Given the description of an element on the screen output the (x, y) to click on. 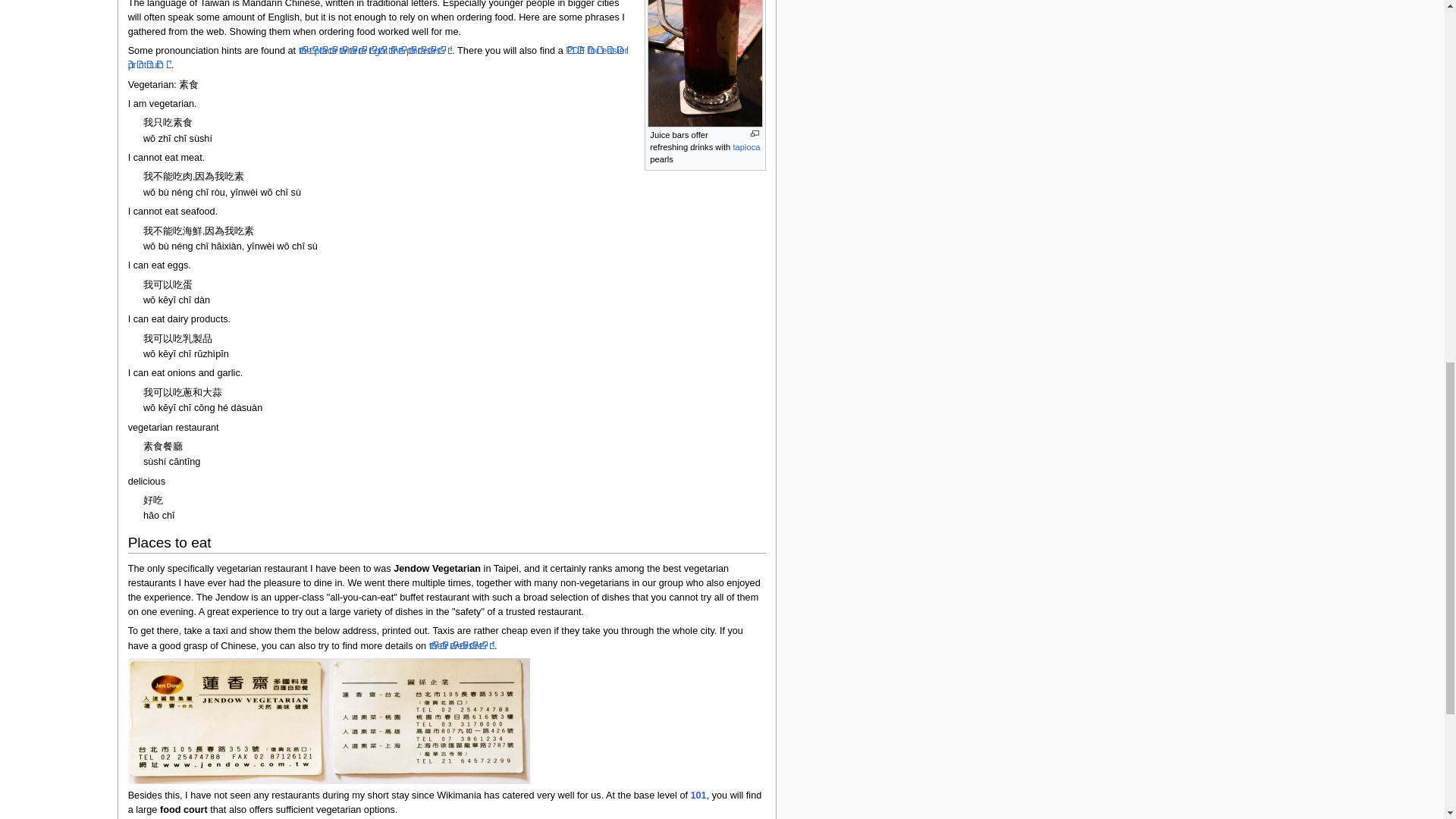
wikipedia:tapioca (746, 146)
wikipedia:Taipei 101 (698, 795)
their website (462, 645)
101 (698, 795)
PDF for easier printout (377, 57)
tapioca (746, 146)
the place where I got the phrases (375, 50)
Enlarge (754, 133)
